Given the description of an element on the screen output the (x, y) to click on. 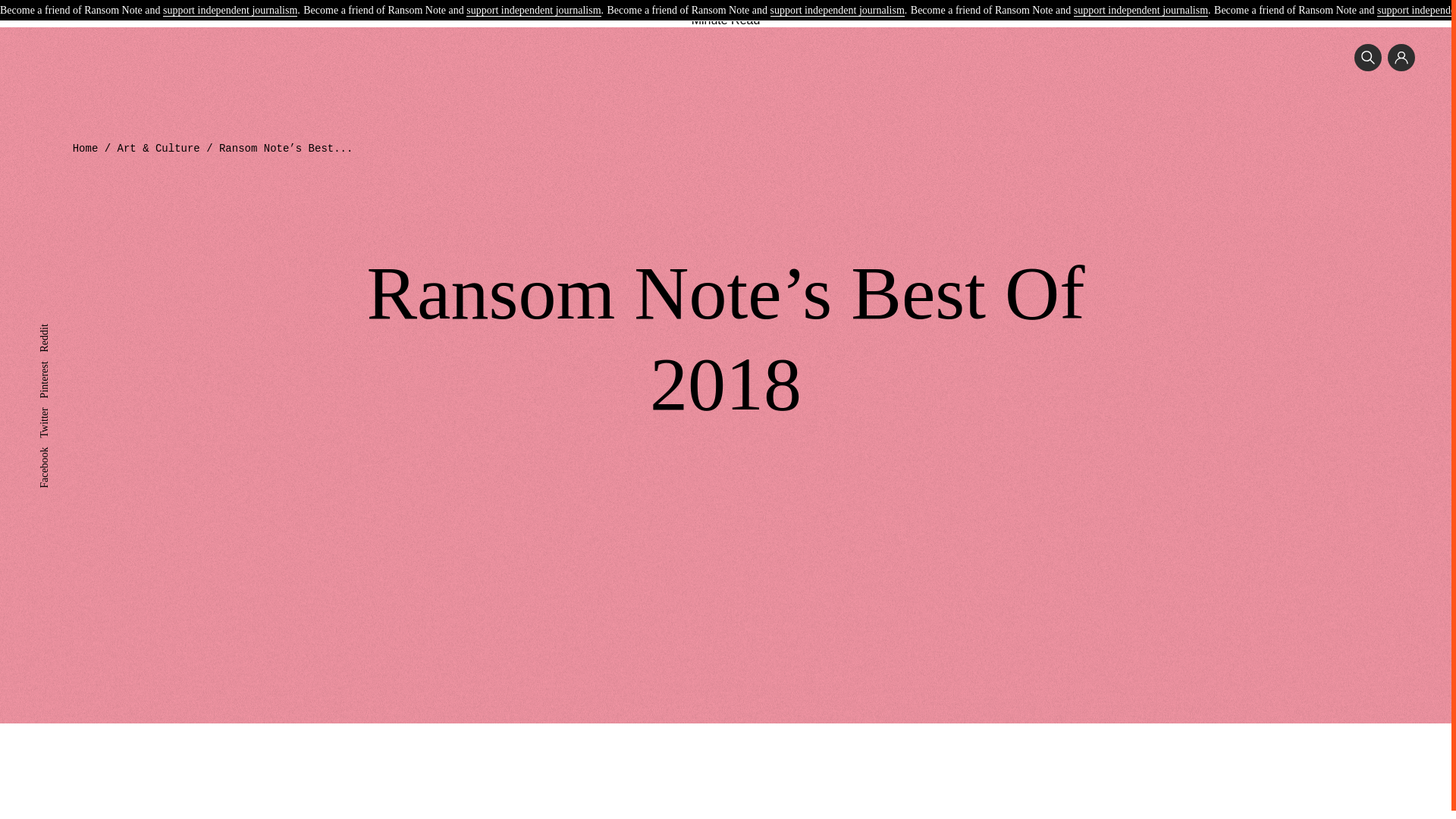
support independent journalism (532, 10)
Commentary (794, 3)
Home (85, 148)
support independent journalism (1141, 10)
Pinterest (57, 367)
Music (558, 3)
support independent journalism (230, 10)
support independent journalism (837, 10)
Shop (895, 3)
Facebook (59, 452)
Twitter (53, 413)
Reddit (52, 329)
